Given the description of an element on the screen output the (x, y) to click on. 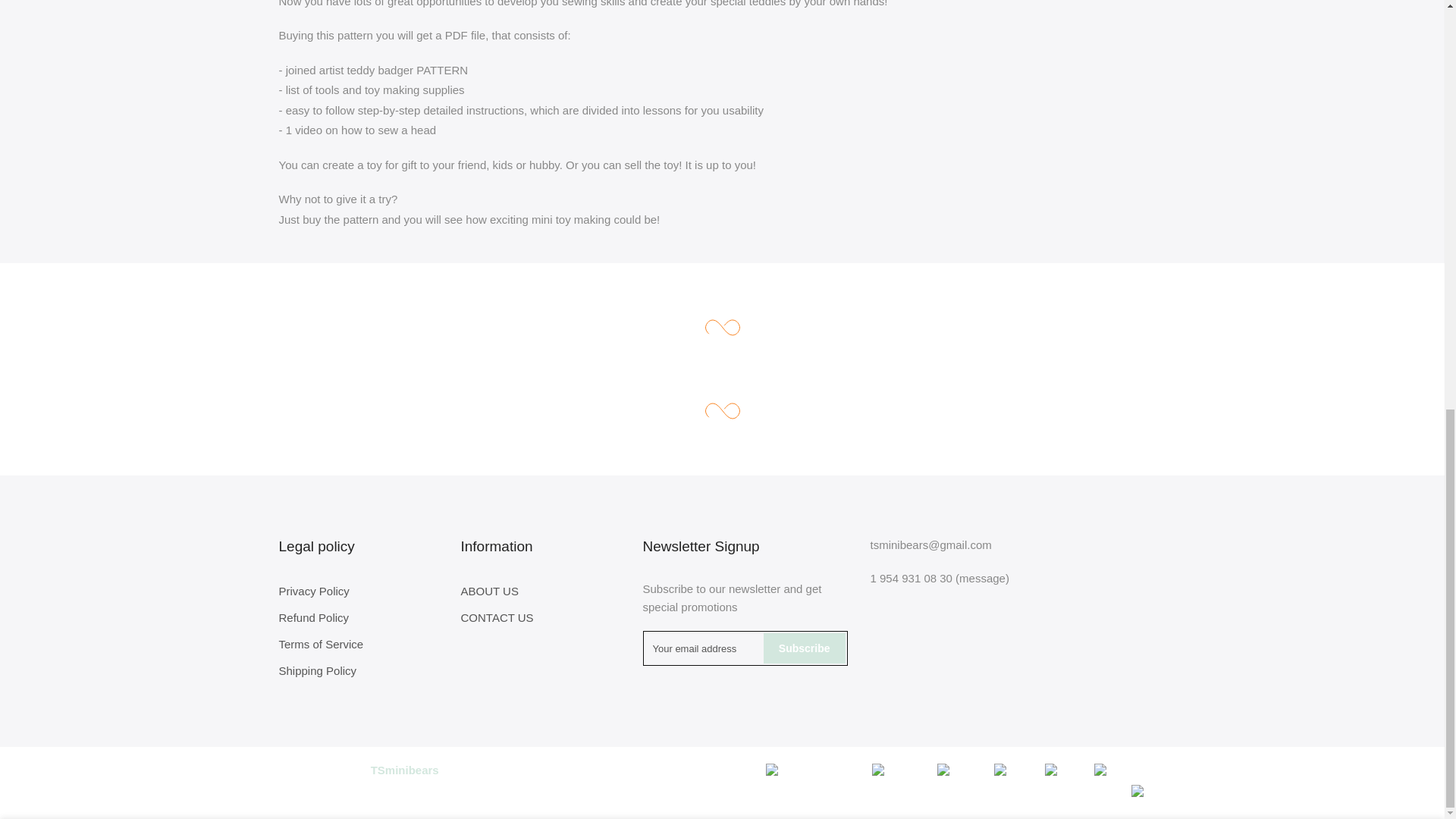
1 (1001, 36)
Privacy Policy (314, 590)
Subscribe (803, 648)
Refund Policy (314, 617)
CONTACT US (497, 617)
Shipping Policy (317, 670)
ABOUT US (489, 590)
Terms of Service (321, 644)
